Given the description of an element on the screen output the (x, y) to click on. 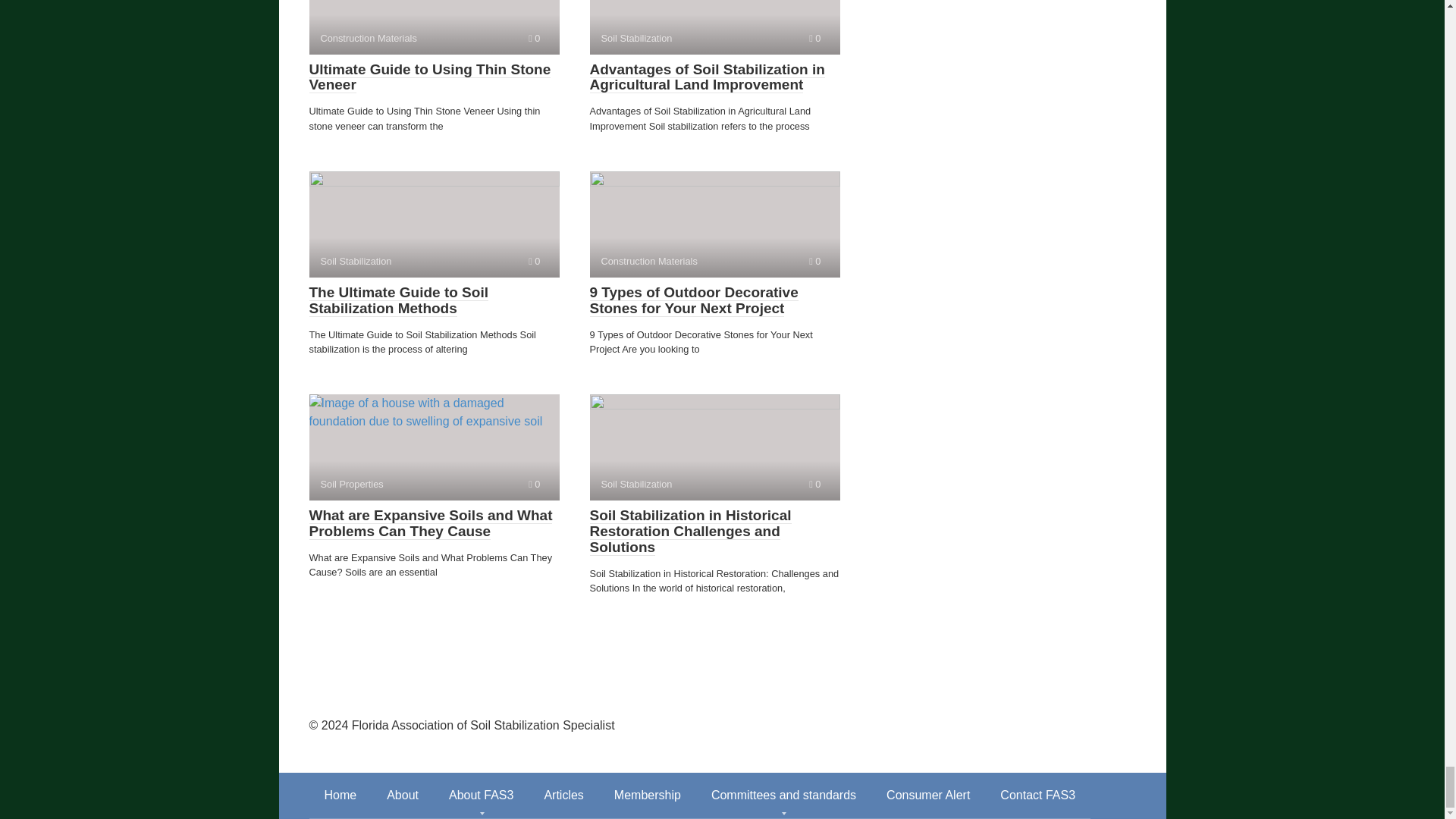
Ultimate Guide to Using Thin Stone Veneer (429, 77)
Comments (534, 38)
Comments (433, 27)
